Given the description of an element on the screen output the (x, y) to click on. 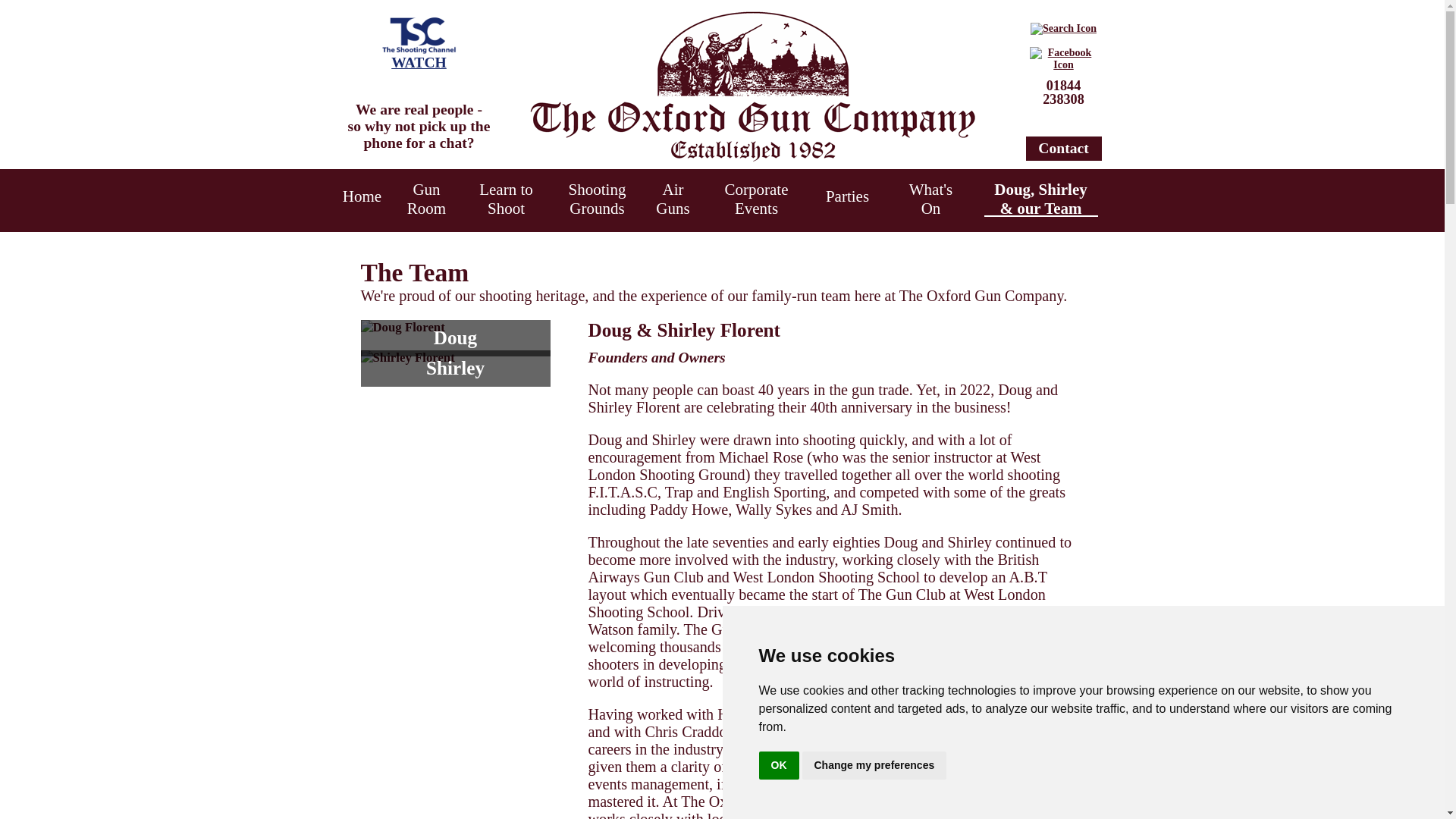
Contact (1062, 148)
Link to TSC TV page (418, 34)
Find us on Facebook (1063, 64)
Link to TSC TV page (418, 62)
WATCH (418, 62)
OK (777, 765)
Change my preferences (874, 765)
Search the OGC site (1063, 92)
